Given the description of an element on the screen output the (x, y) to click on. 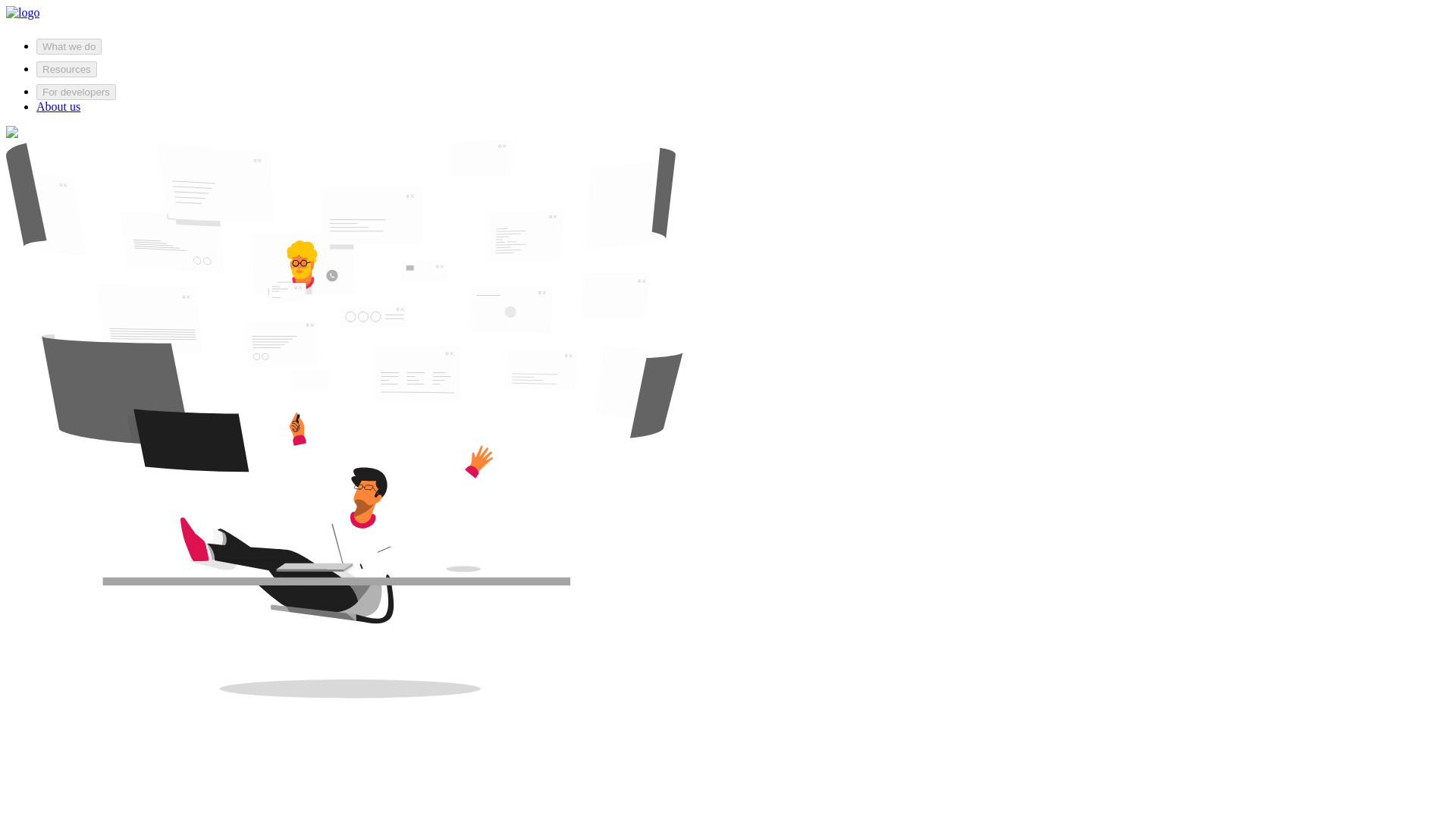
About us (58, 106)
What we do (68, 46)
For developers (76, 91)
Resources (66, 68)
